Given the description of an element on the screen output the (x, y) to click on. 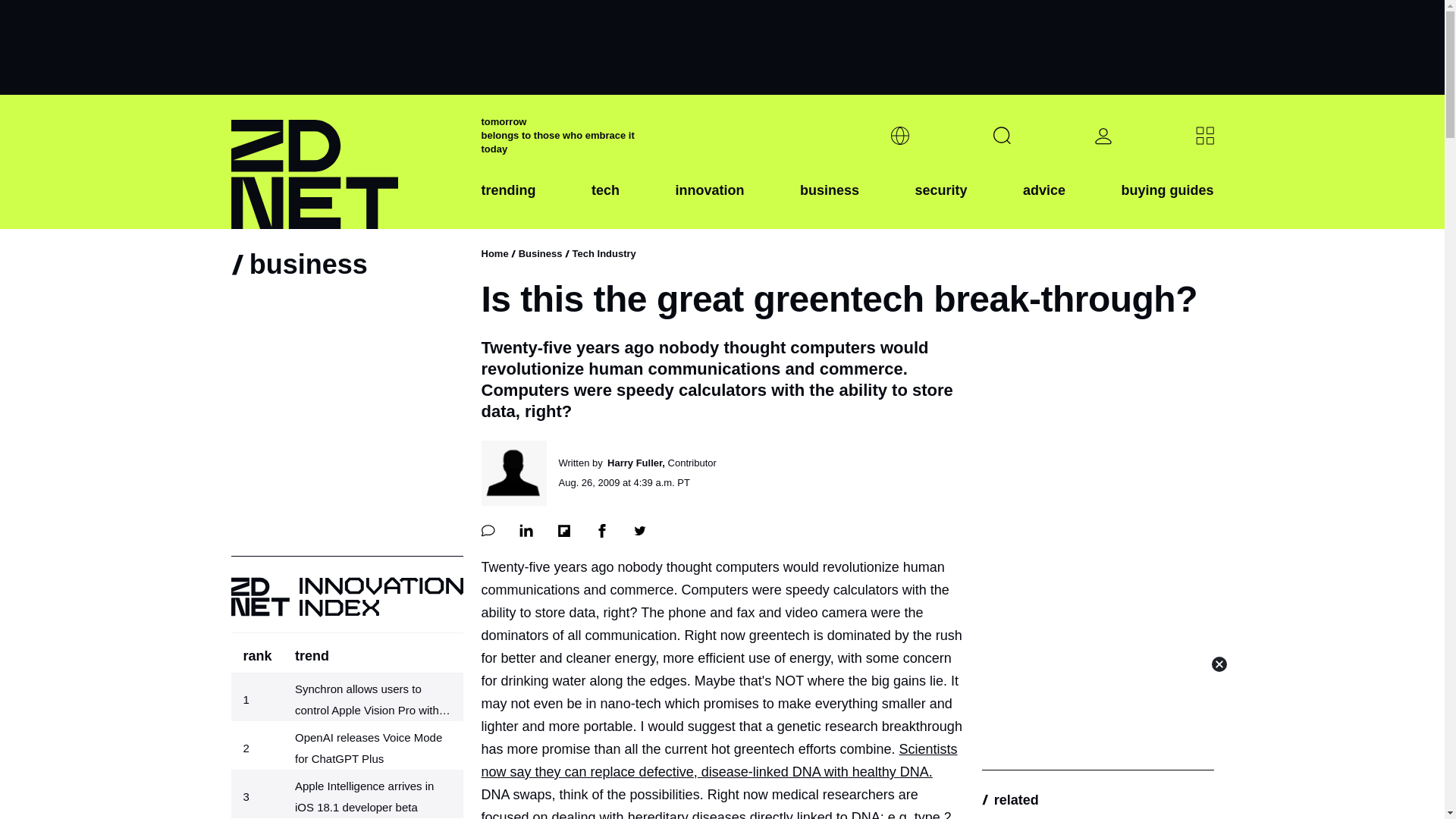
trending (507, 202)
ZDNET (346, 162)
